Given the description of an element on the screen output the (x, y) to click on. 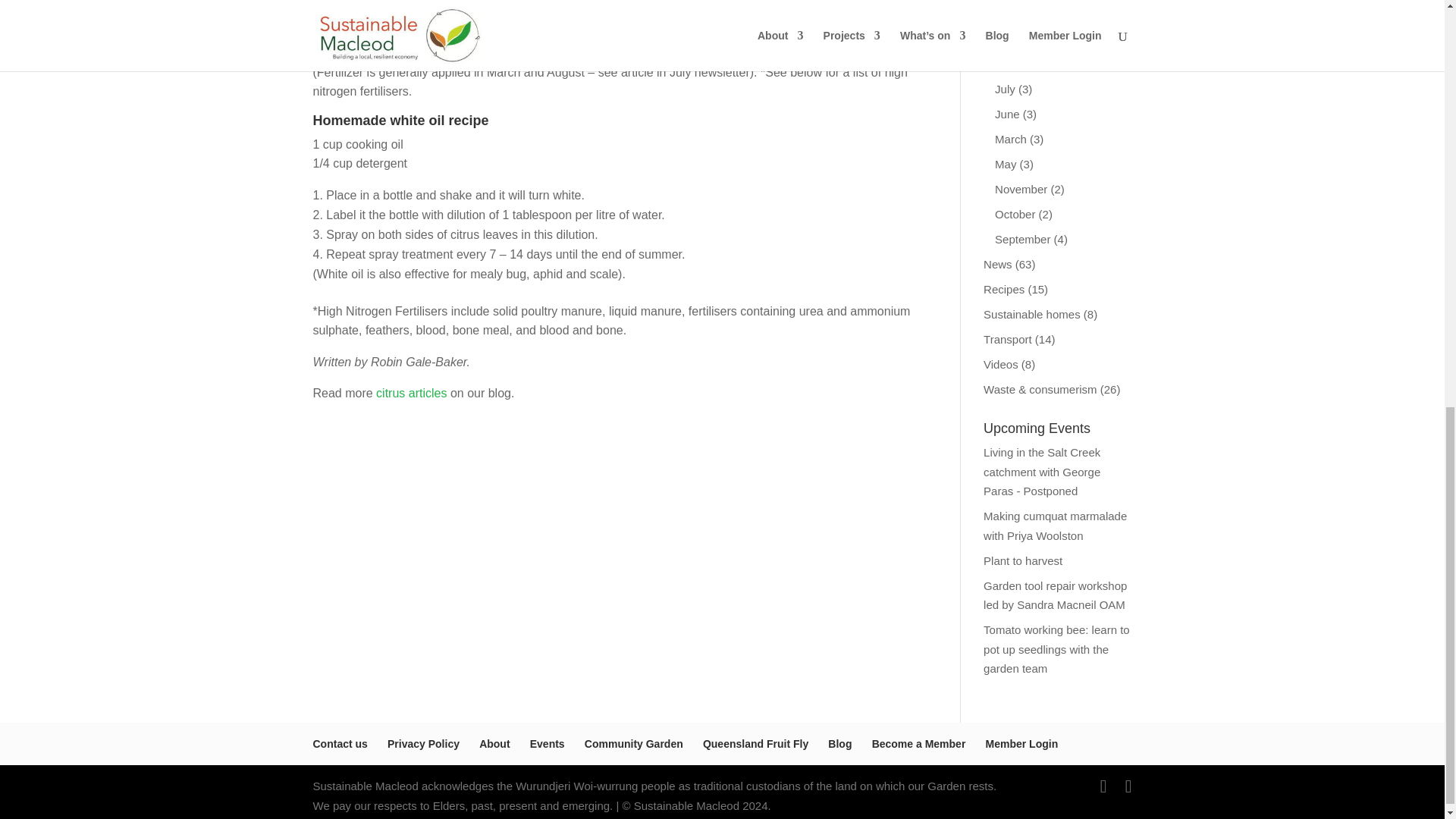
citrus articles (410, 392)
